Given the description of an element on the screen output the (x, y) to click on. 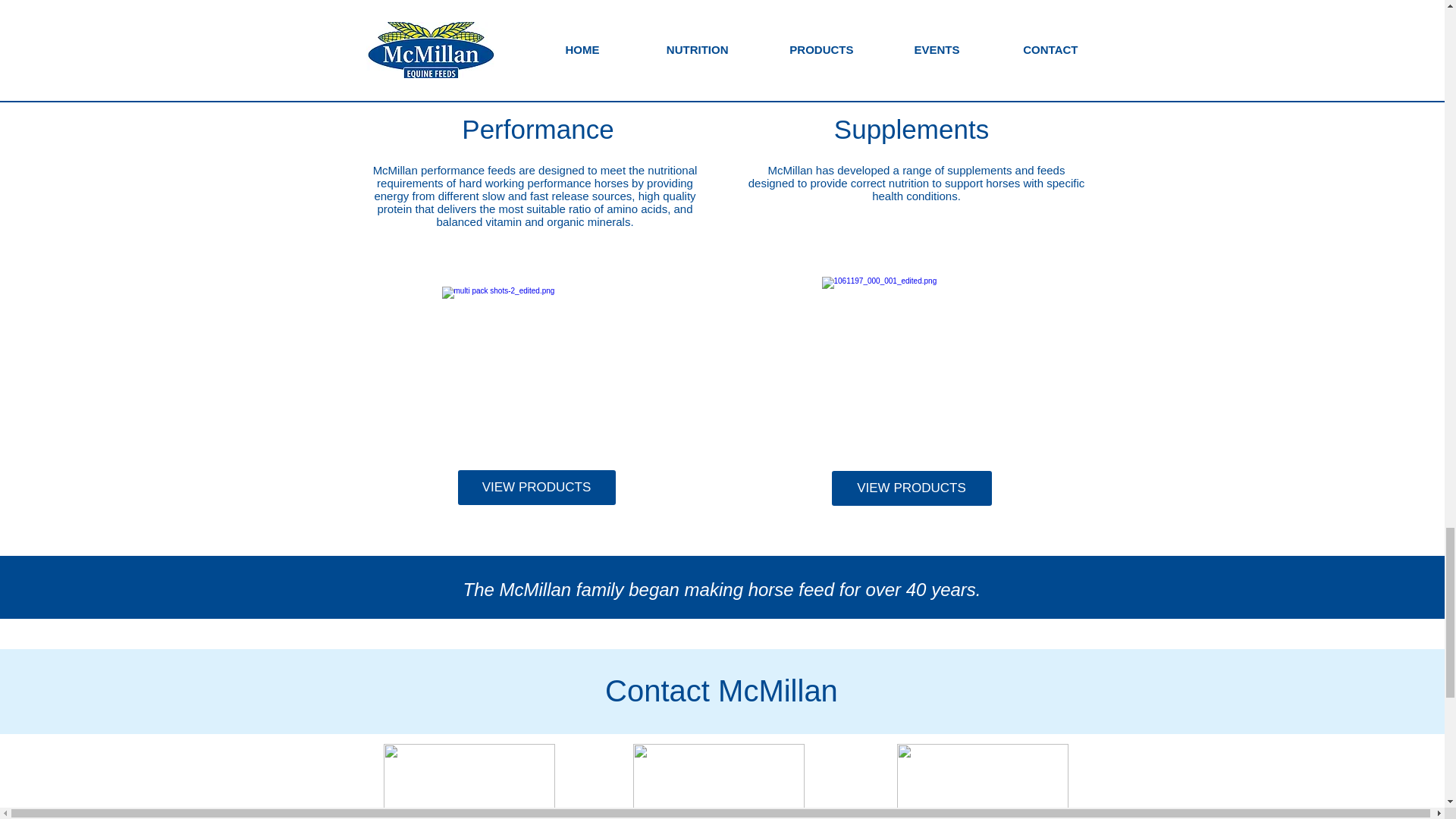
VIEW PRODUCTS (538, 10)
Supplements (911, 129)
VIEW PRODUCTS (537, 487)
VIEW PRODUCTS (910, 487)
VIEW PRODUCTS (910, 9)
